Given the description of an element on the screen output the (x, y) to click on. 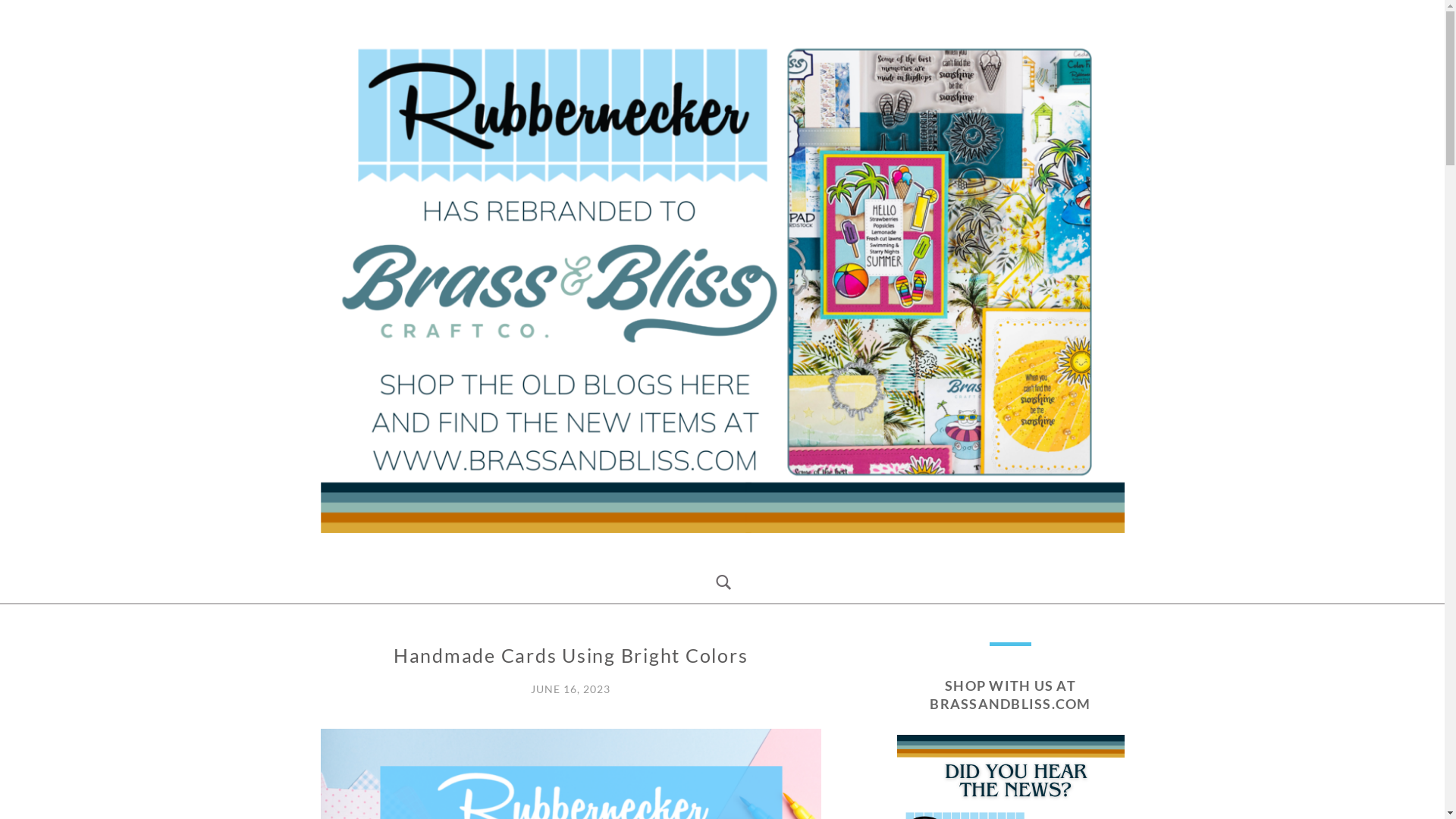
JUNE 16, 2023 (570, 688)
MISCELLANEOUS (372, 652)
RUBBERNECKER BLOG (499, 553)
